Given the description of an element on the screen output the (x, y) to click on. 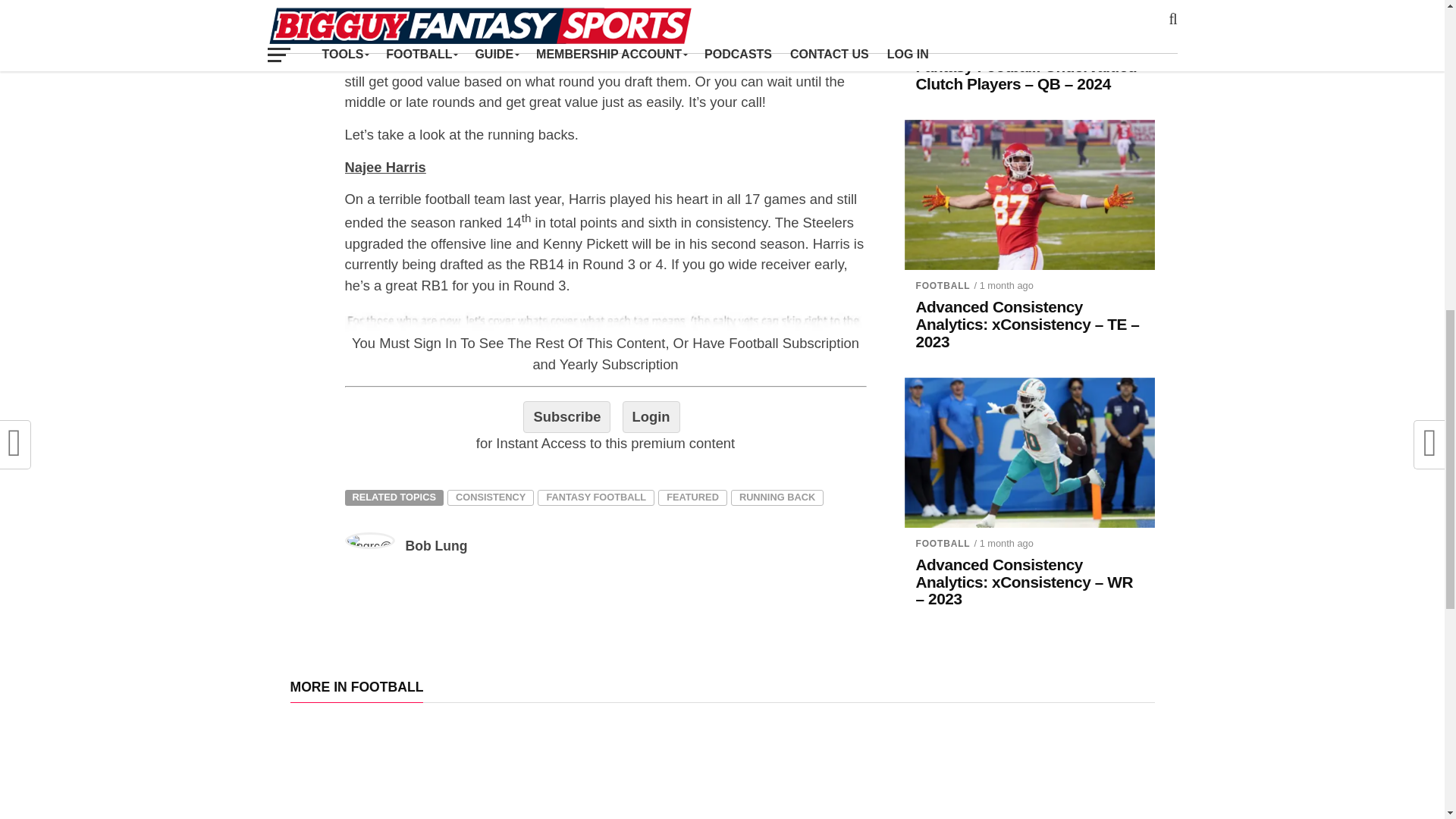
Posts by Bob Lung (435, 545)
